Given the description of an element on the screen output the (x, y) to click on. 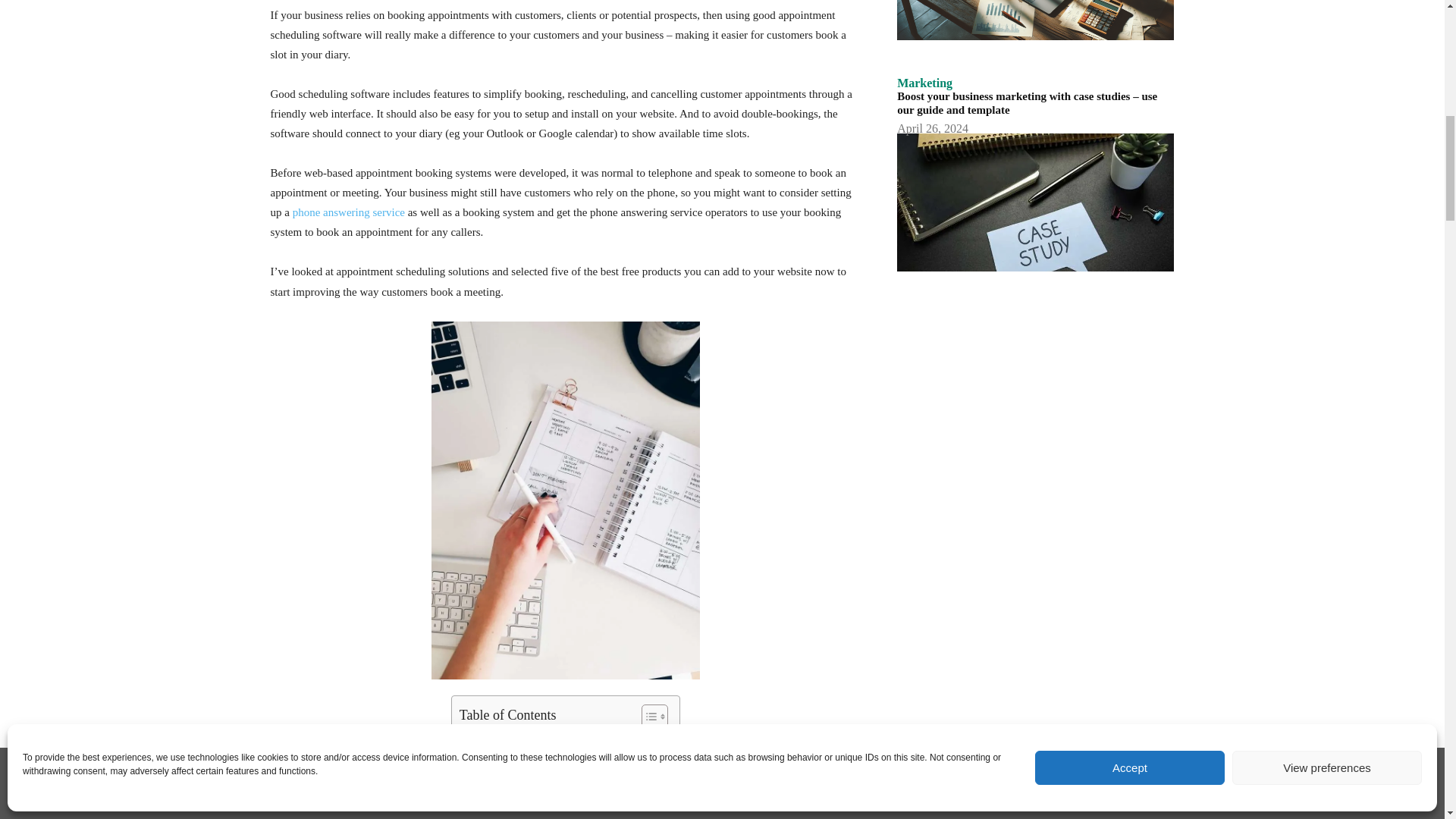
Choosing appointment scheduling software (553, 737)
Five best free appointment scheduling software (561, 754)
